Given the description of an element on the screen output the (x, y) to click on. 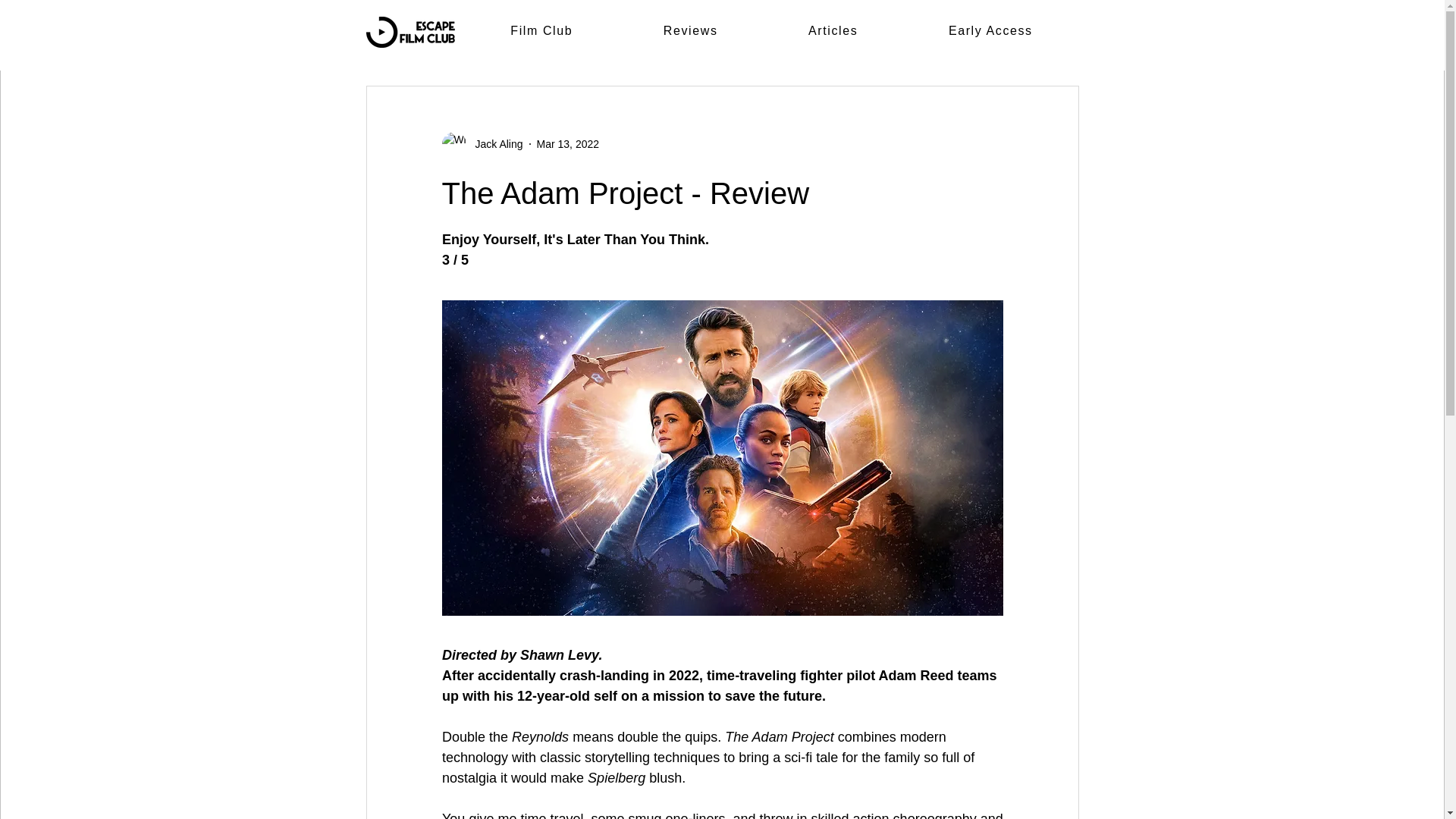
Reviews (689, 31)
Articles (833, 31)
Film Club (541, 31)
Early Access (990, 31)
Jack Aling (493, 144)
Mar 13, 2022 (568, 143)
